Given the description of an element on the screen output the (x, y) to click on. 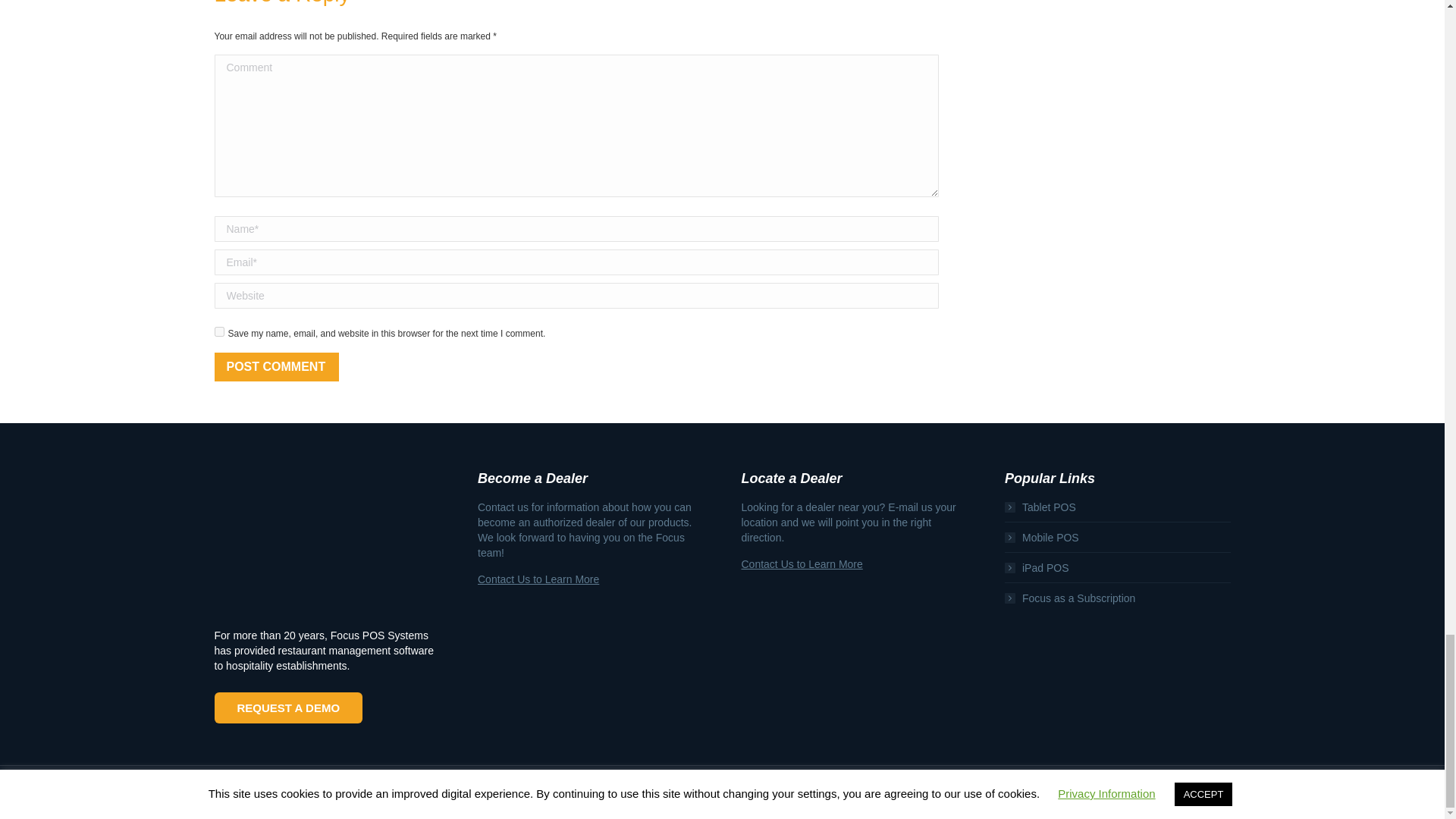
yes (219, 330)
